Given the description of an element on the screen output the (x, y) to click on. 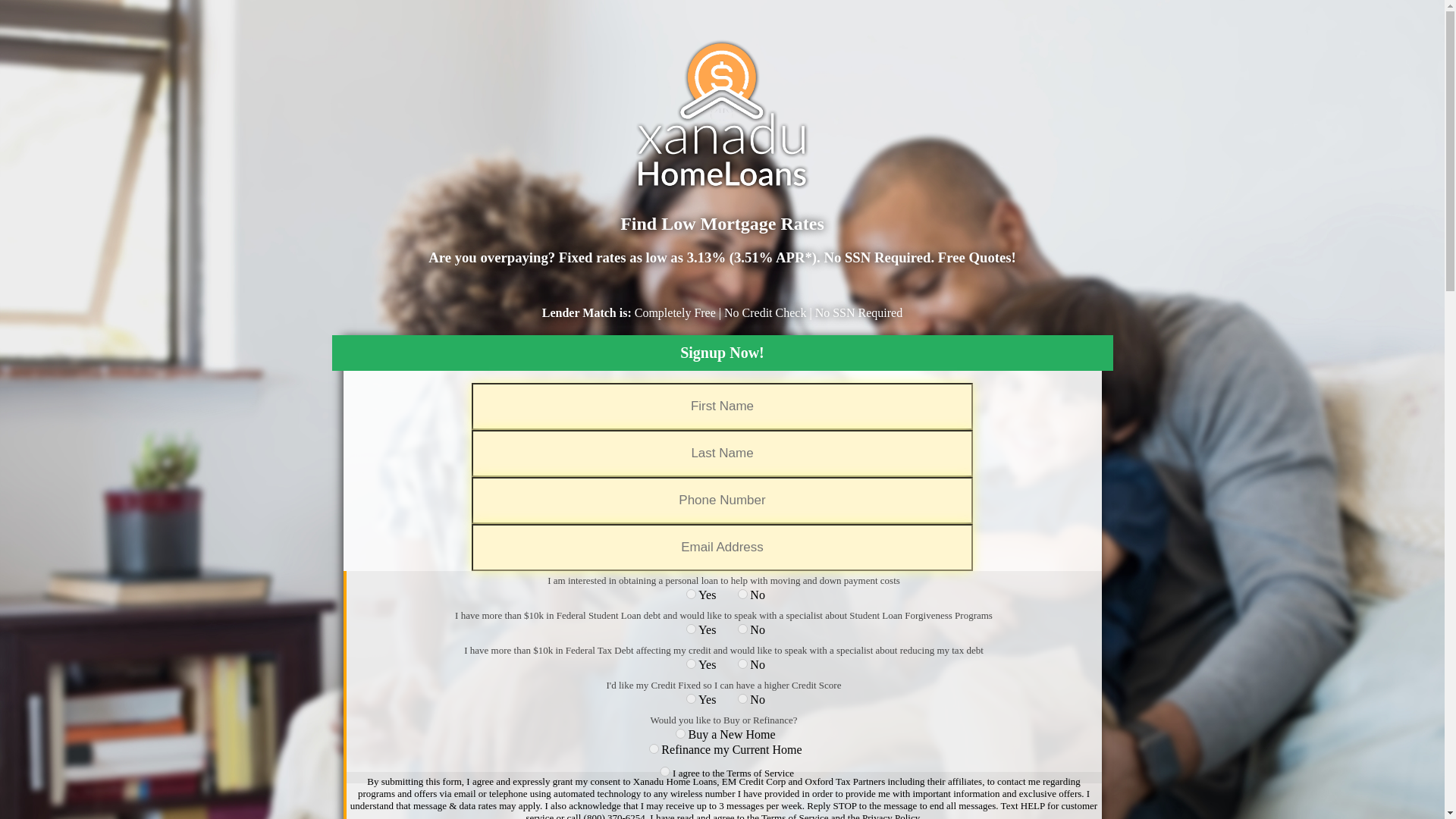
0 (743, 628)
agree (665, 771)
1 (690, 593)
1 (690, 664)
1 (690, 698)
1 (690, 628)
buy (680, 733)
0 (743, 593)
0 (743, 698)
0 (743, 664)
refi (654, 748)
